Given the description of an element on the screen output the (x, y) to click on. 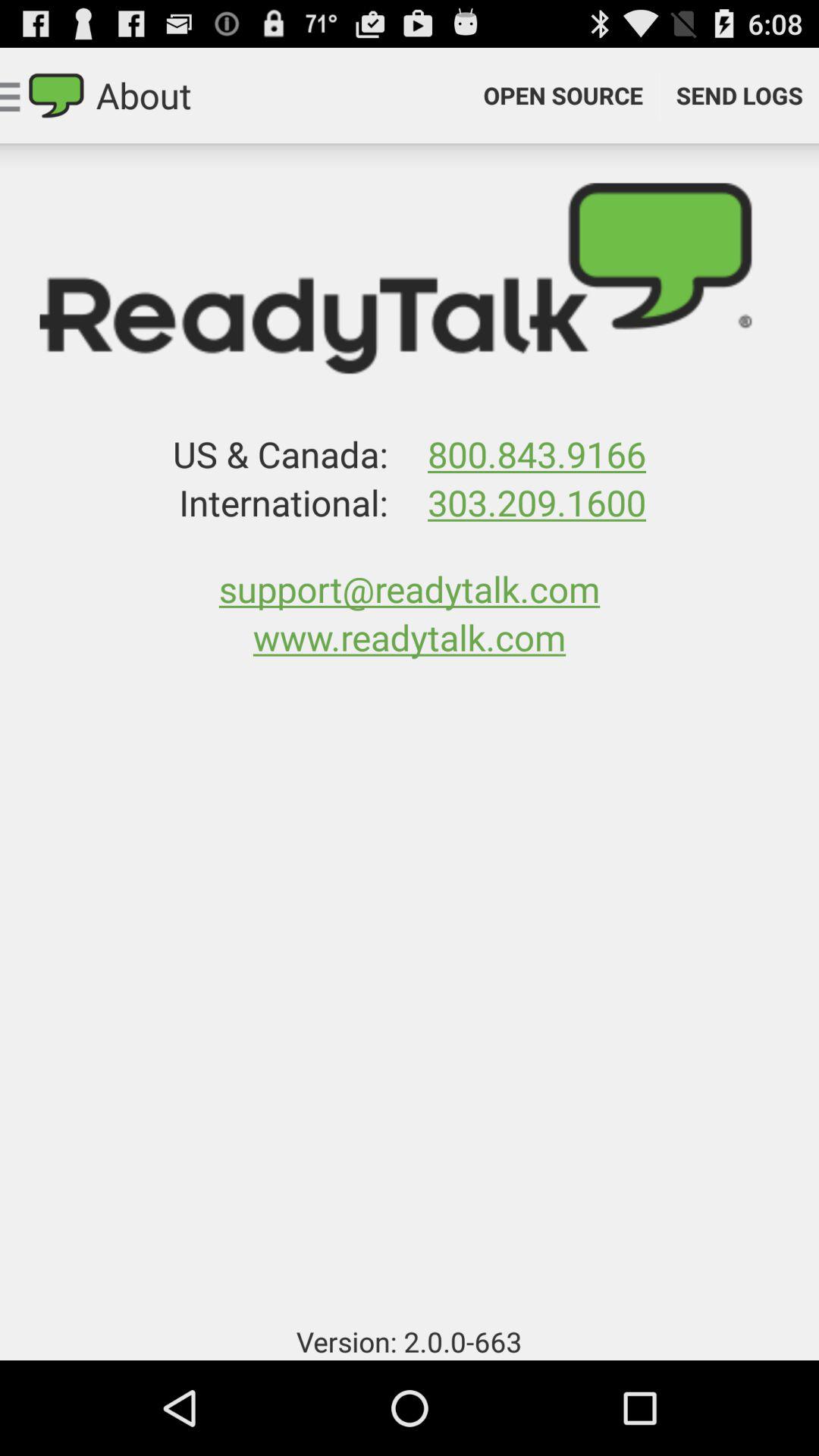
flip until the 800.843.9166 (536, 453)
